Given the description of an element on the screen output the (x, y) to click on. 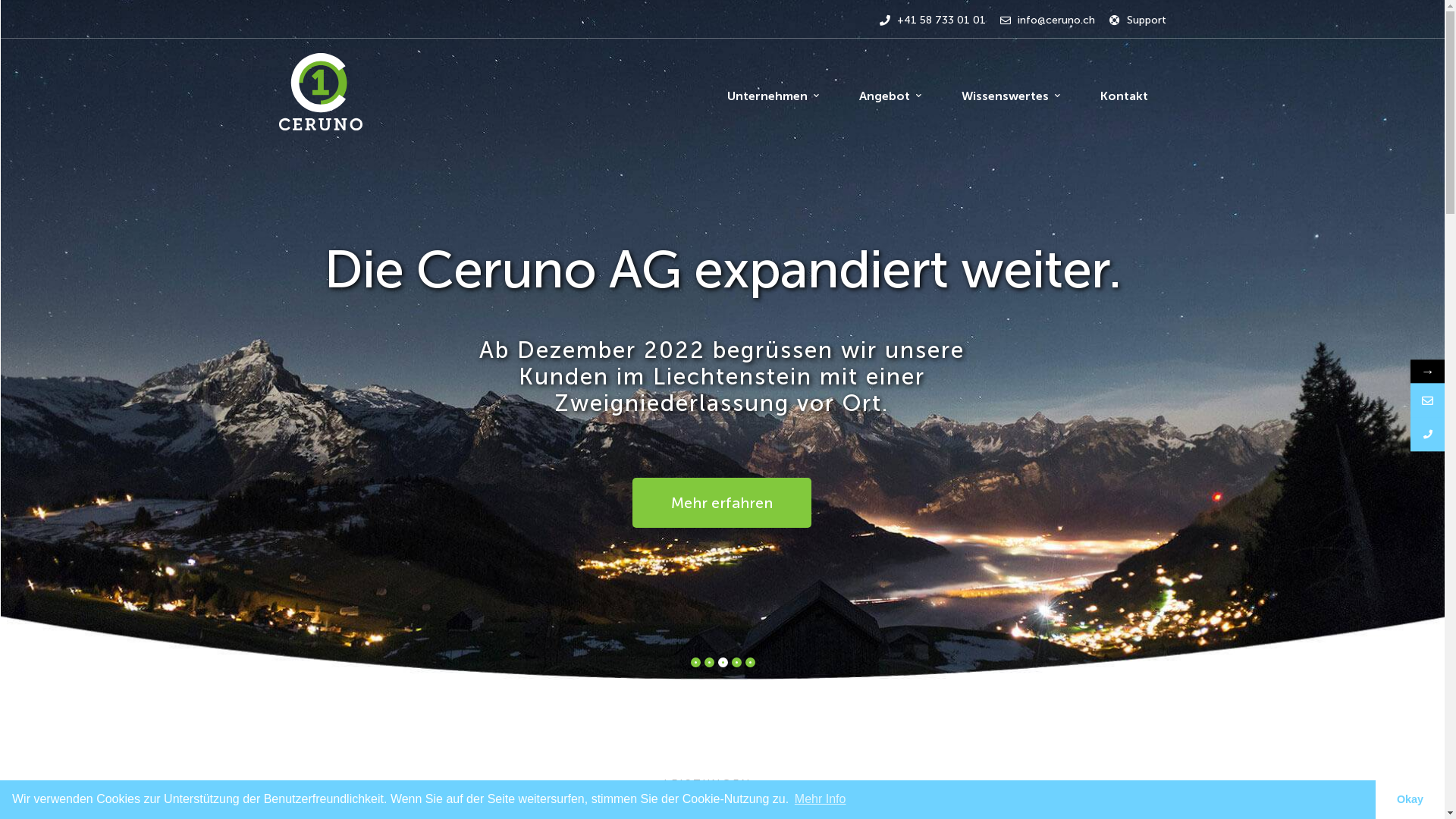
Unternehmen Element type: text (772, 91)
Support Element type: text (1136, 19)
+41587330101 Element type: hover (1427, 434)
Mehr Info Element type: text (820, 798)
Mehr erfahren Element type: text (721, 502)
Kontakt Element type: text (1123, 91)
Angebot Element type: text (889, 91)
info@ceruno.ch Element type: text (1046, 19)
+41 58 733 01 01 Element type: text (932, 19)
Wissenswertes Element type: text (1010, 91)
